Given the description of an element on the screen output the (x, y) to click on. 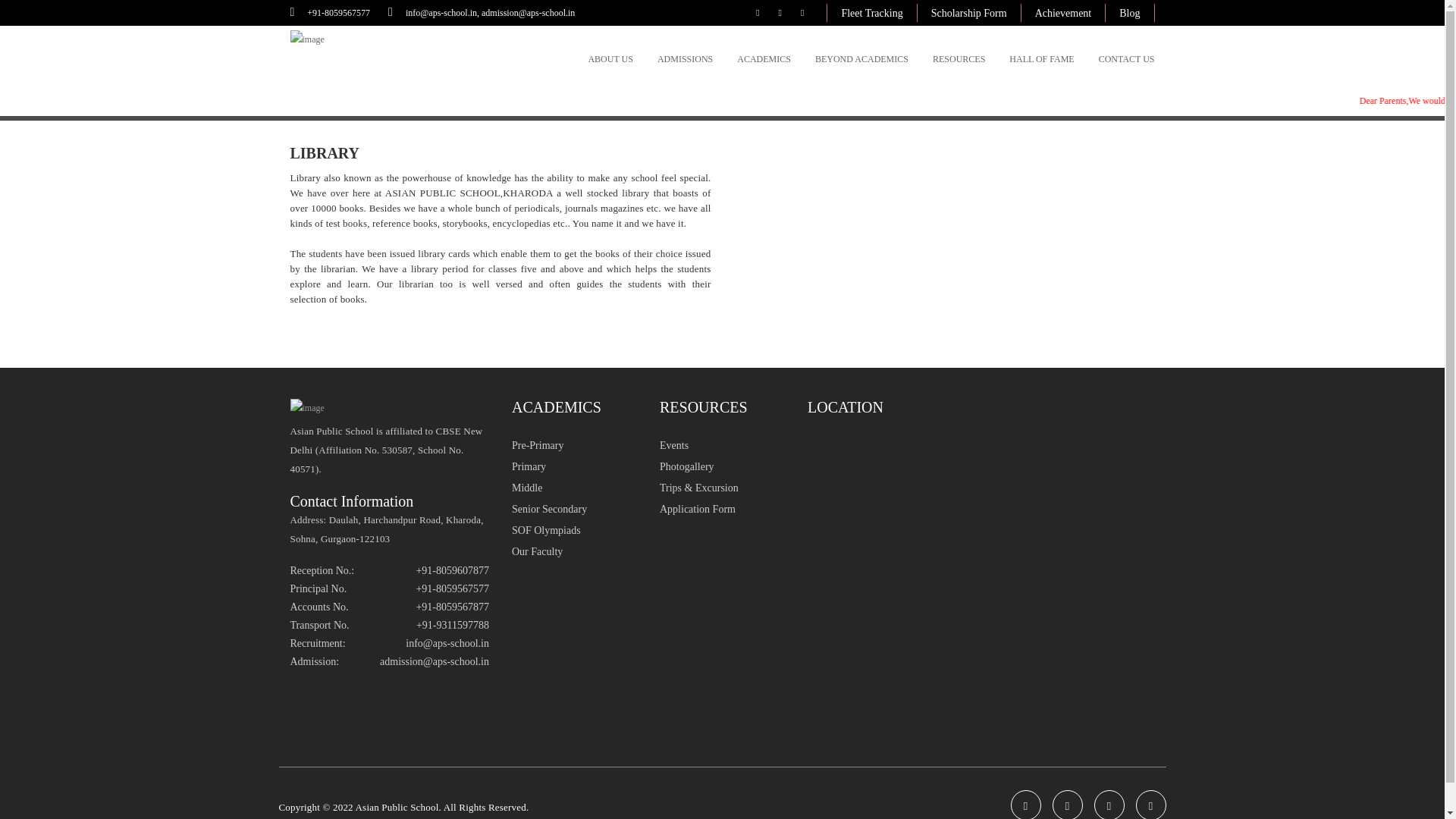
Achievement (1063, 13)
Fleet Tracking (871, 13)
BEYOND ACADEMICS (861, 58)
Blog (1129, 13)
Fleet Tracking (871, 13)
Scholarship Form (968, 13)
ABOUT US (609, 58)
Scholarship Form (968, 13)
ADMISSIONS (685, 58)
Blog (1129, 13)
